Given the description of an element on the screen output the (x, y) to click on. 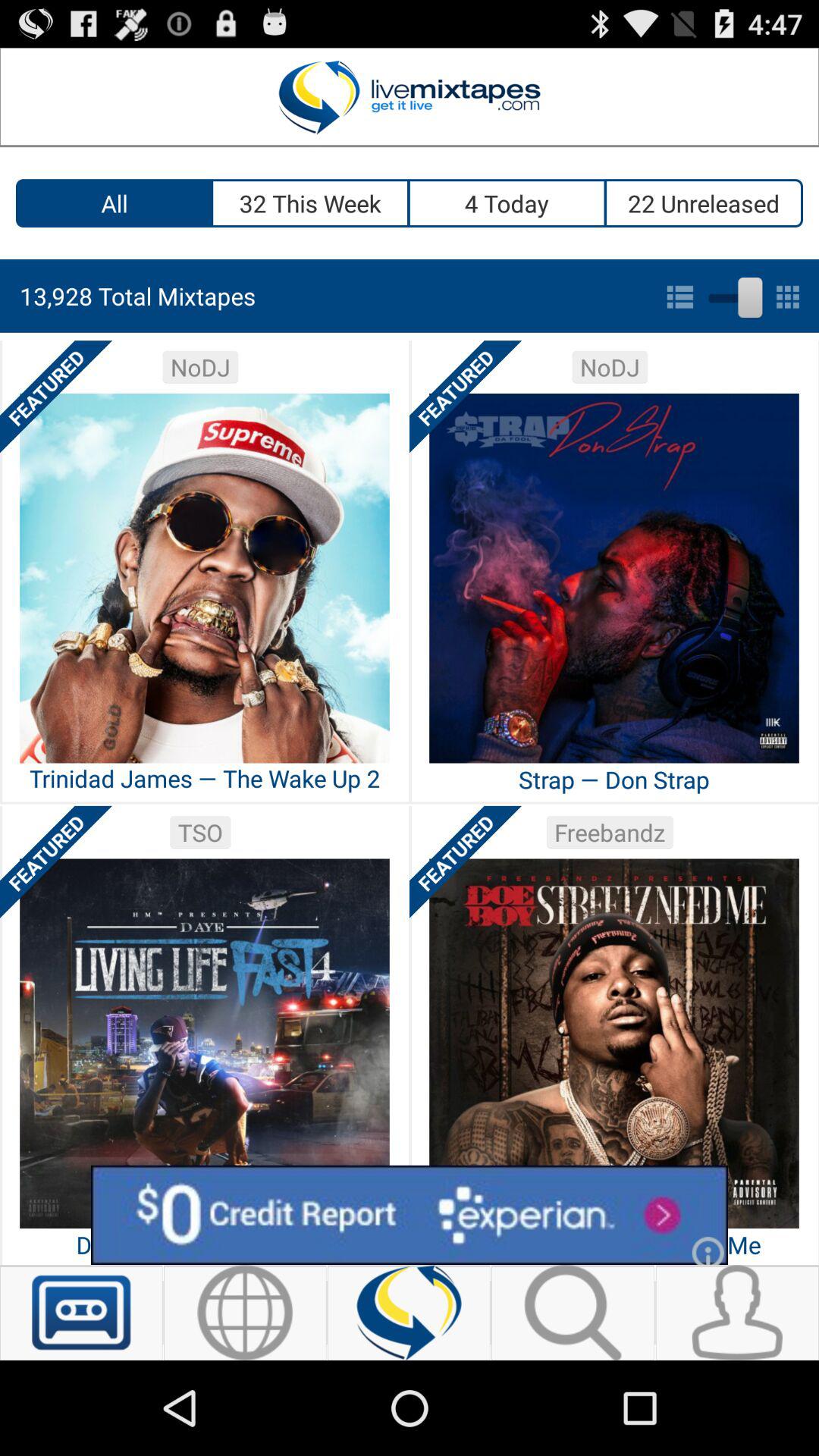
list to grid view toggle (733, 294)
